Given the description of an element on the screen output the (x, y) to click on. 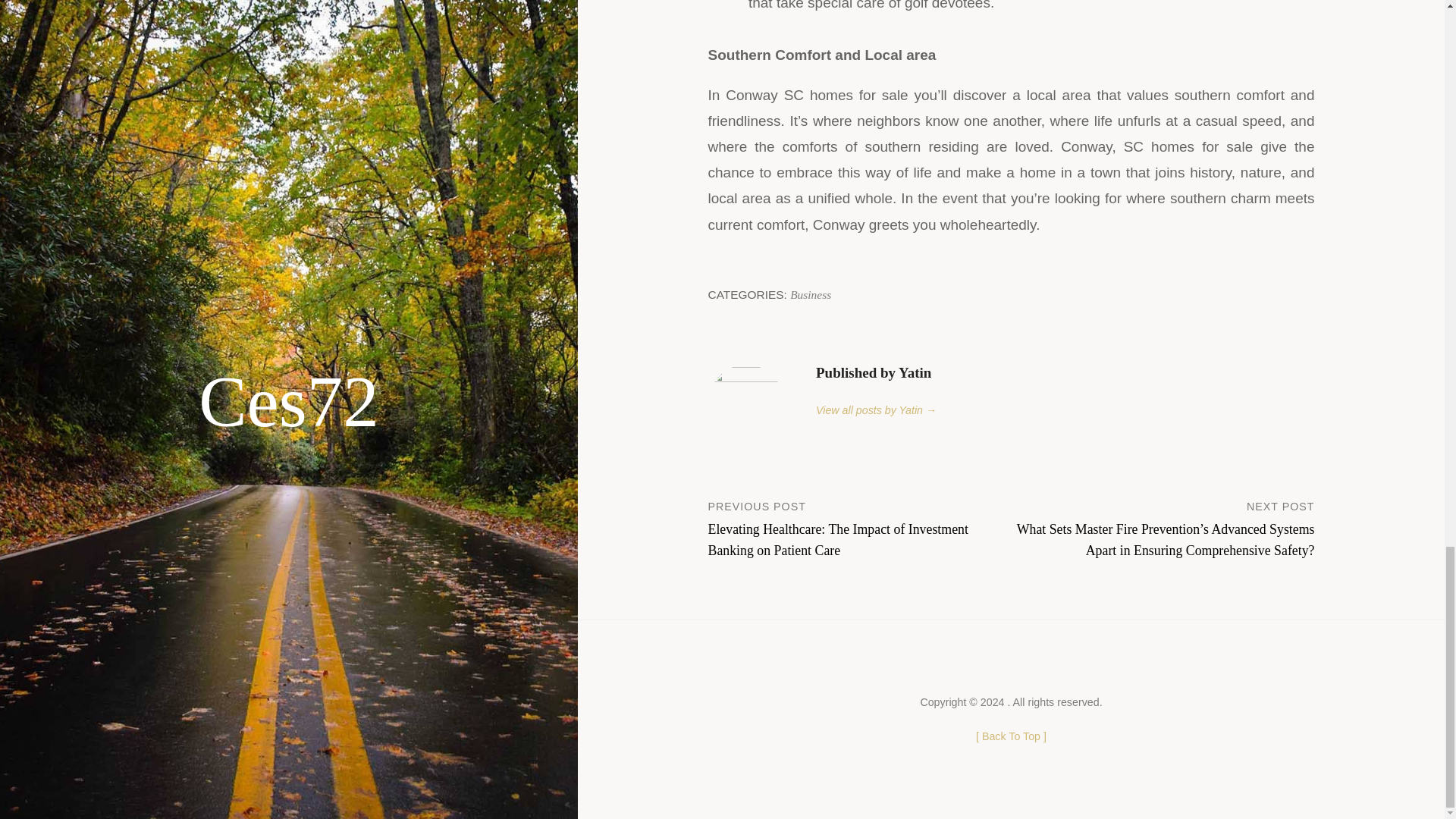
Back To Top (1010, 736)
Business (810, 294)
